Given the description of an element on the screen output the (x, y) to click on. 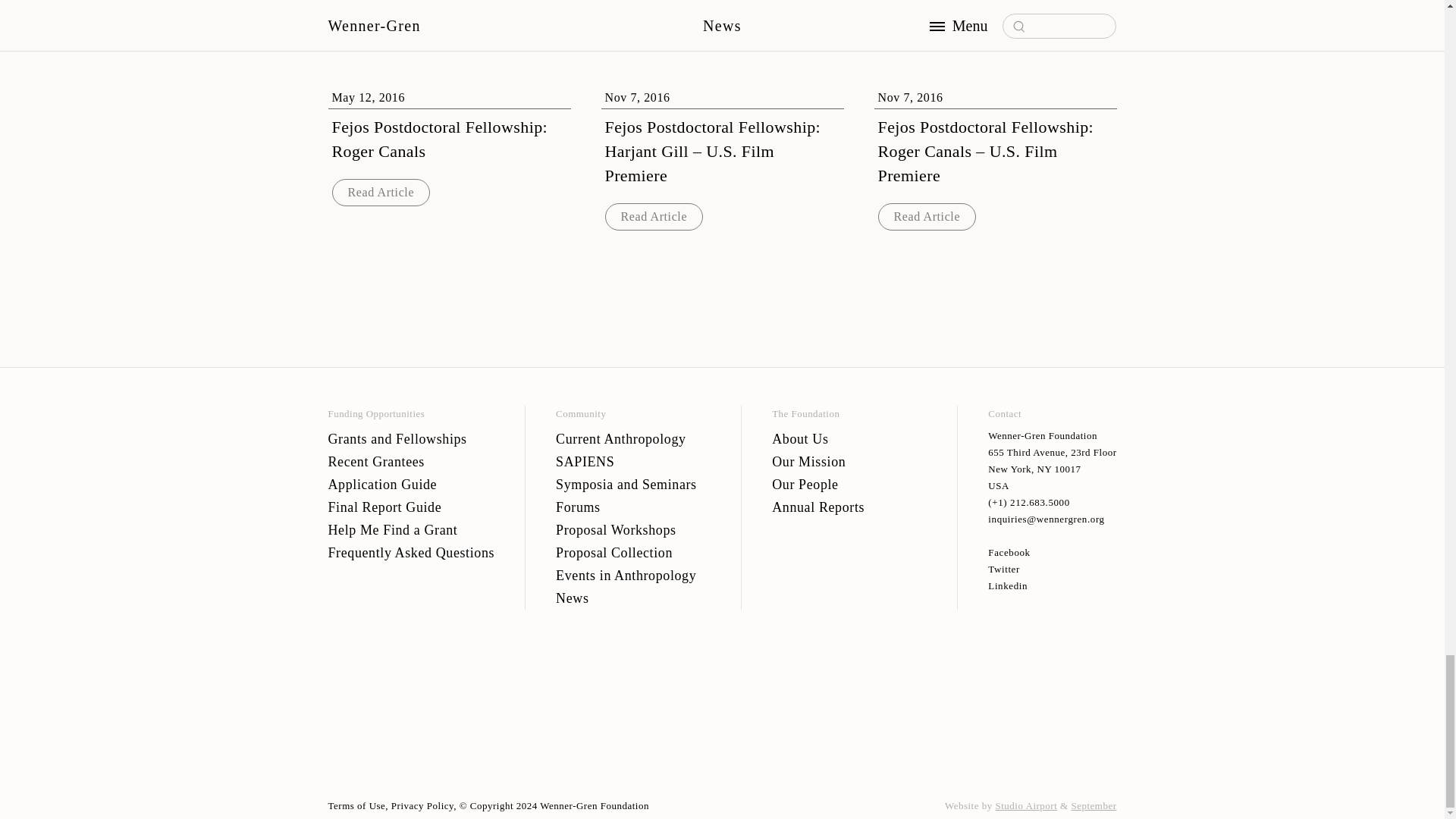
twitter (1052, 569)
Recent Grantees (411, 461)
linkedin (1052, 586)
Read Article (926, 216)
Read Article (380, 192)
facebook (1052, 552)
Grants and Fellowships (411, 438)
Read Article (654, 216)
